Given the description of an element on the screen output the (x, y) to click on. 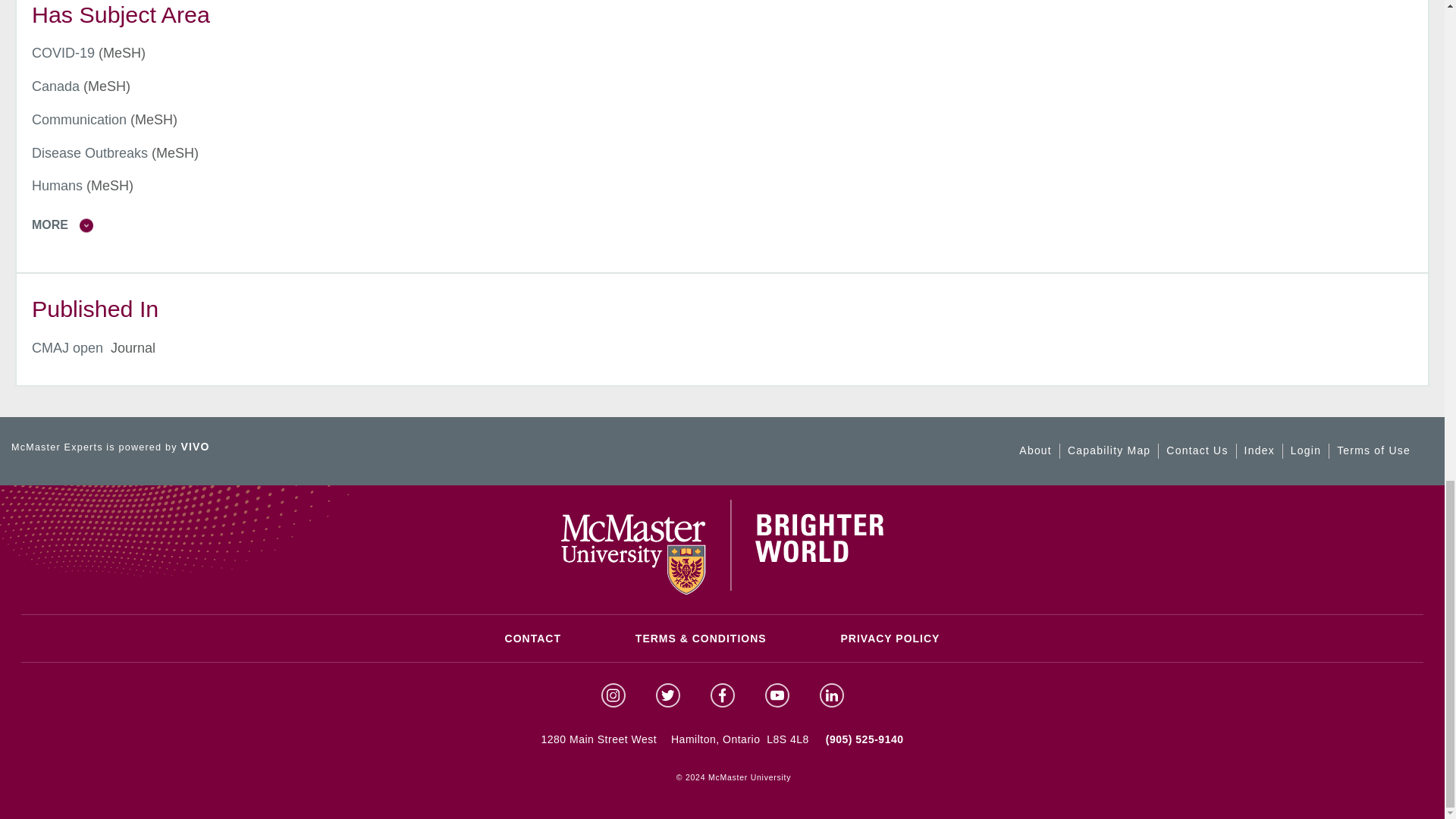
concept name (63, 52)
concept name (57, 185)
concept name (79, 119)
concept name (56, 86)
concept name (90, 152)
